Given the description of an element on the screen output the (x, y) to click on. 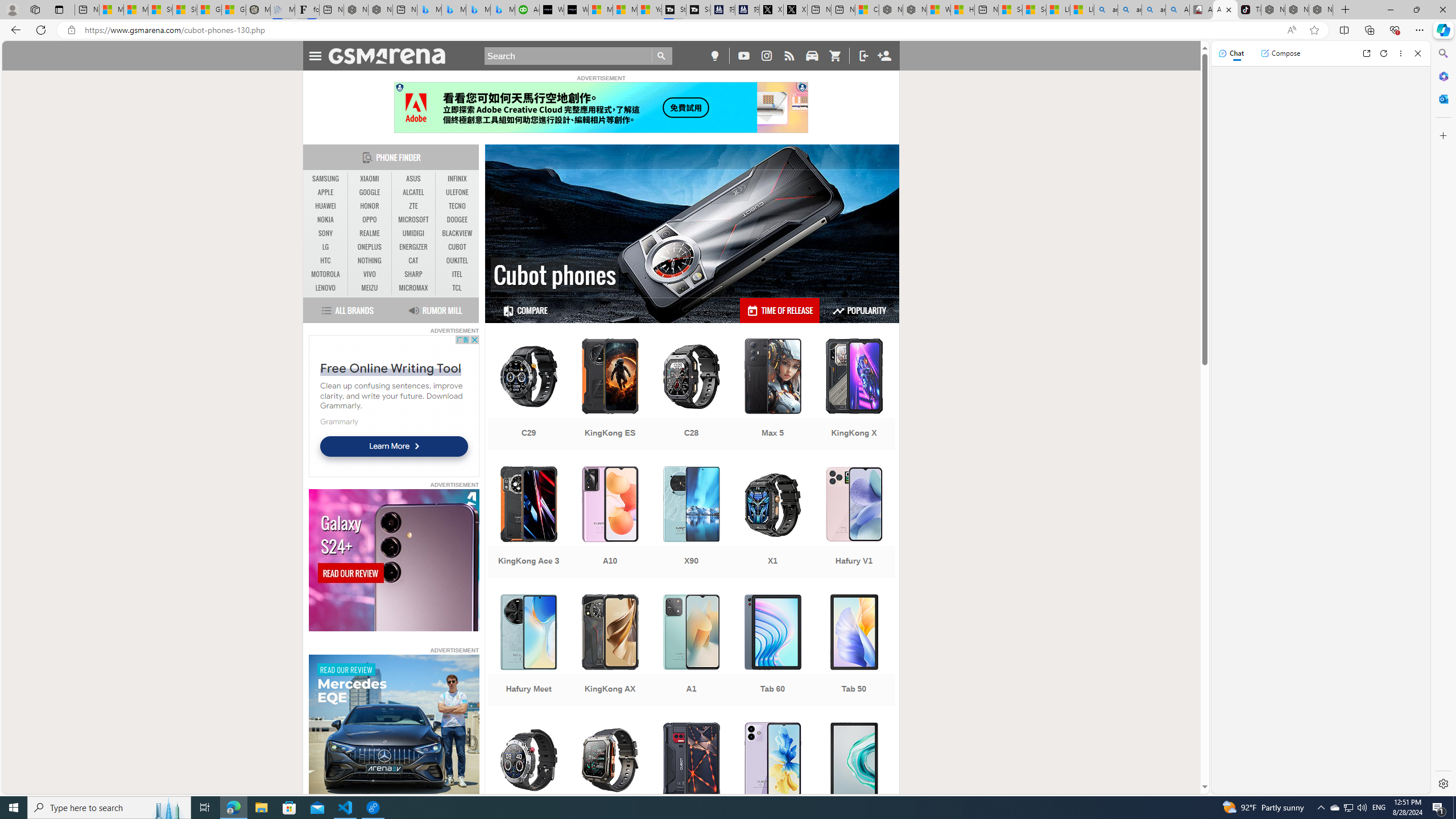
KingKong X (853, 395)
NOTHING (369, 260)
CUBOT (457, 246)
SONY (325, 233)
APPLE (325, 192)
MICROMAX (413, 287)
